Given the description of an element on the screen output the (x, y) to click on. 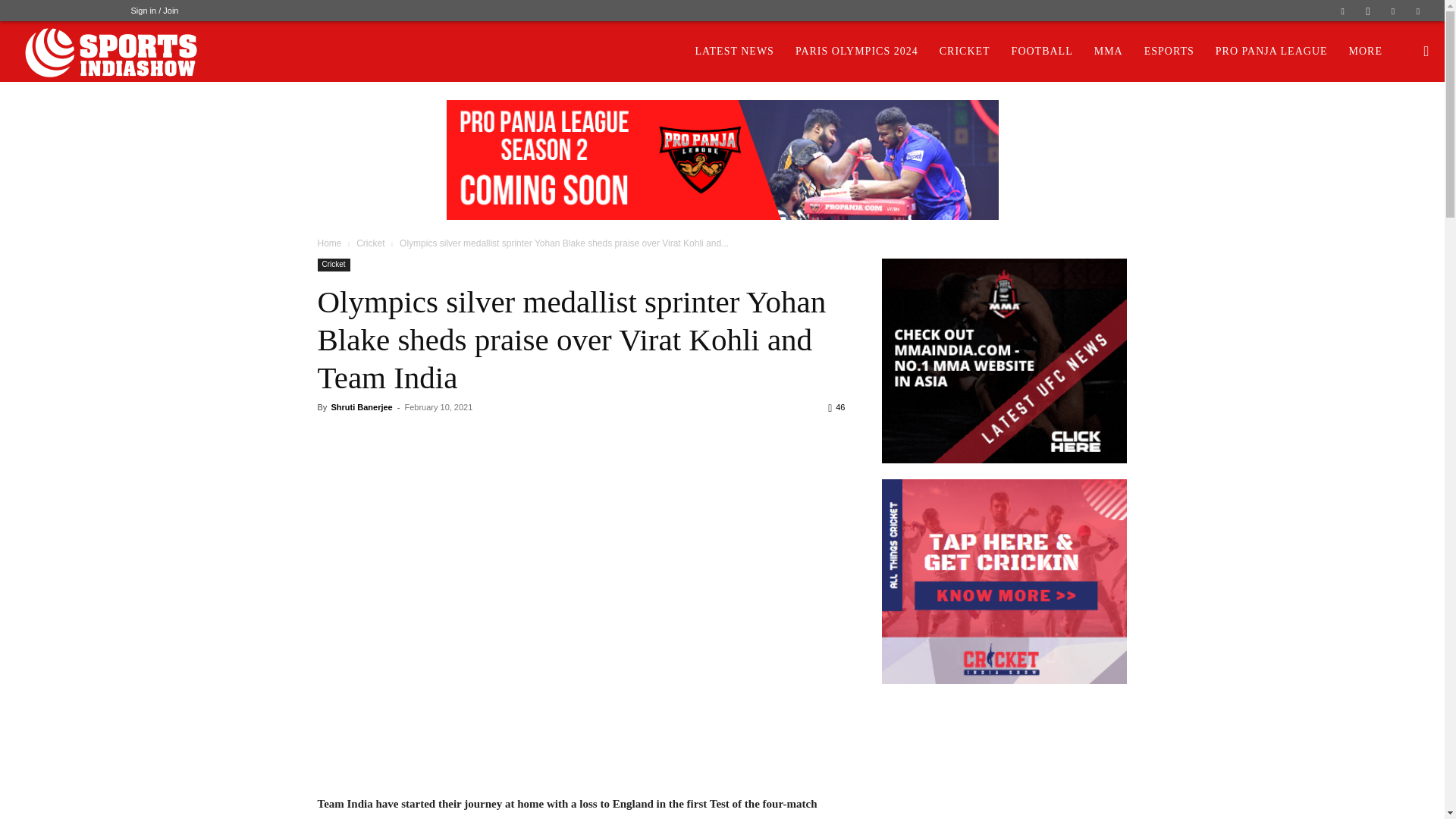
Instagram (1367, 10)
Facebook (1343, 10)
Twitter (1393, 10)
Youtube (1417, 10)
